Given the description of an element on the screen output the (x, y) to click on. 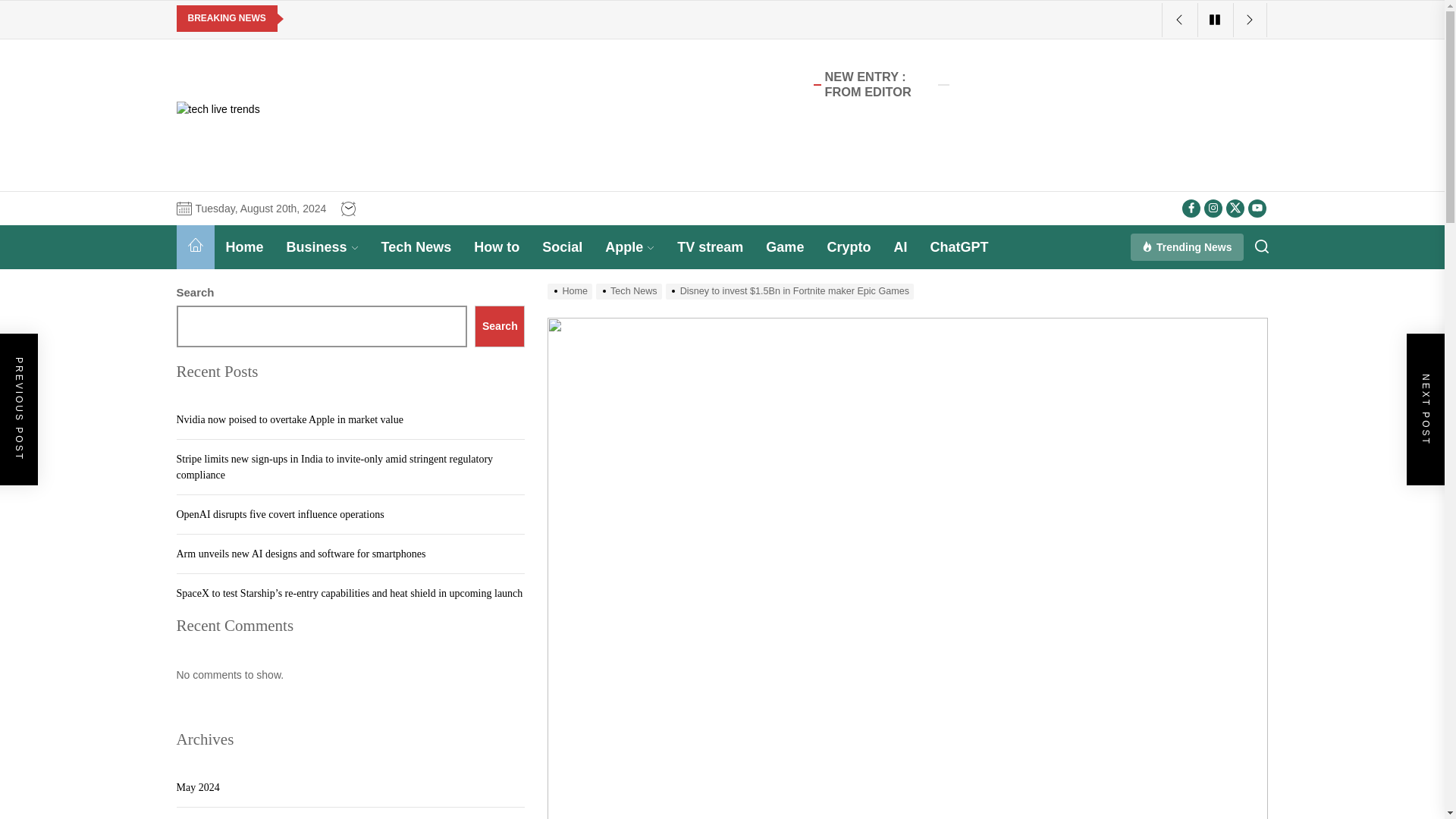
tech live trends (294, 150)
Twitter (1234, 208)
Instagram (1213, 208)
Home (244, 247)
Business (322, 247)
Facebook (1190, 208)
Youtube (1256, 208)
